Given the description of an element on the screen output the (x, y) to click on. 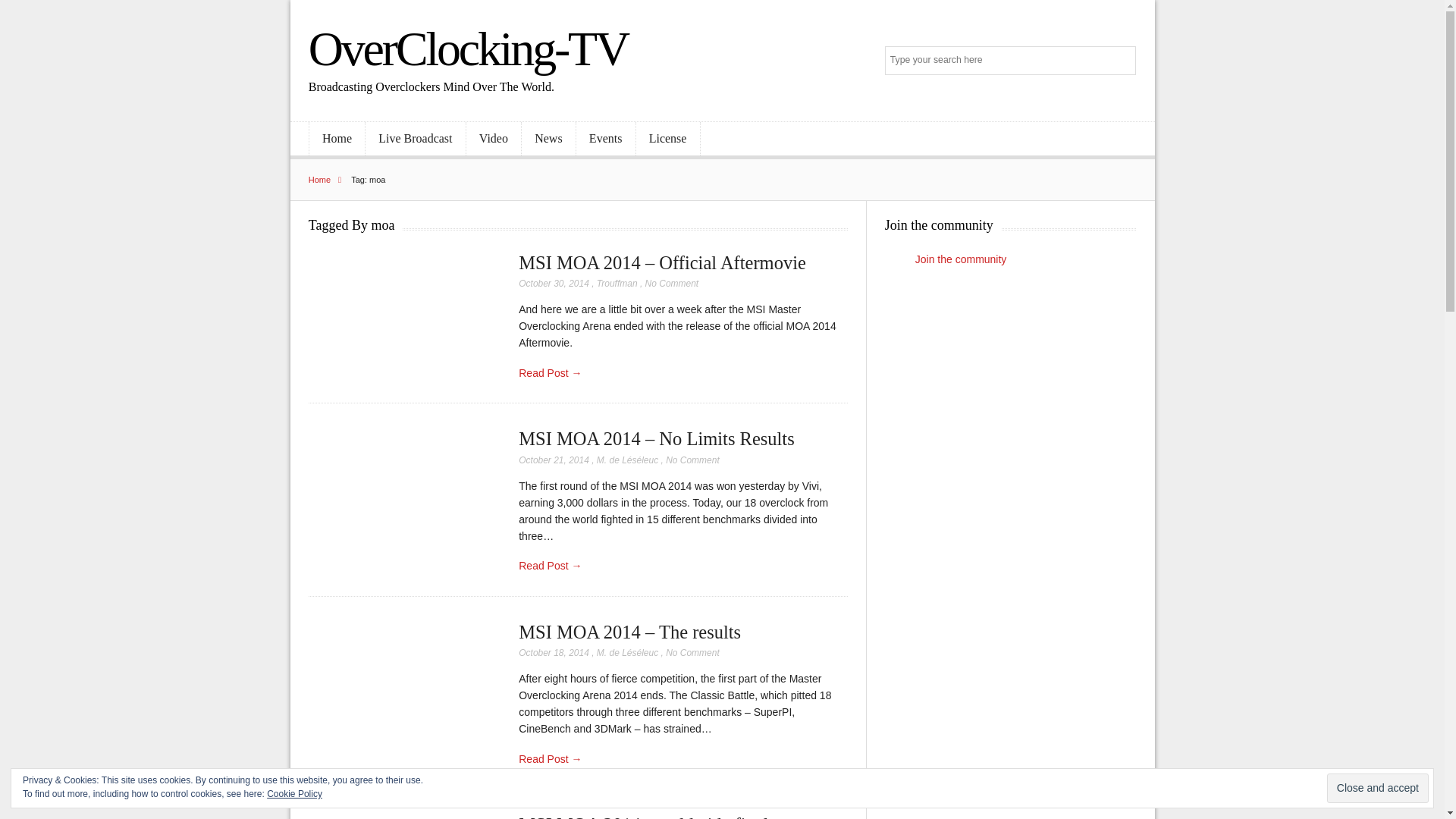
MSI MOA 2014: worldwide finals (647, 816)
OverClocking-TV (467, 49)
No Comment (692, 460)
Search (1123, 61)
MSI MOA 2014: worldwide finals (647, 816)
Events (605, 139)
No Comment (671, 283)
Home (328, 179)
Home (336, 139)
No Comment (692, 652)
